Given the description of an element on the screen output the (x, y) to click on. 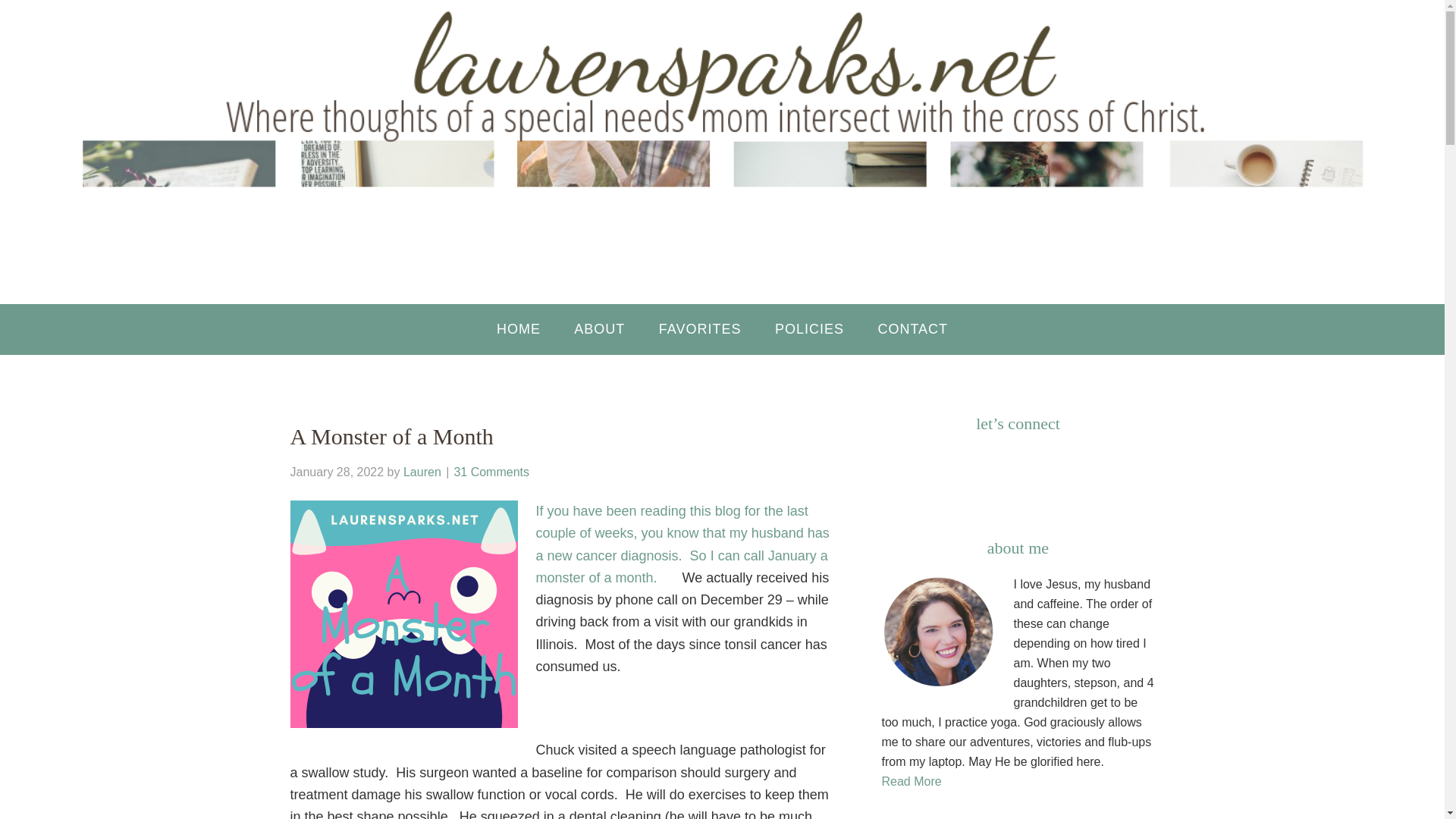
FAVORITES (700, 328)
HOME (518, 328)
31 Comments (490, 472)
Lauren (422, 472)
ABOUT (599, 328)
A Monster of a Month (391, 436)
CONTACT (911, 328)
POLICIES (809, 328)
